Given the description of an element on the screen output the (x, y) to click on. 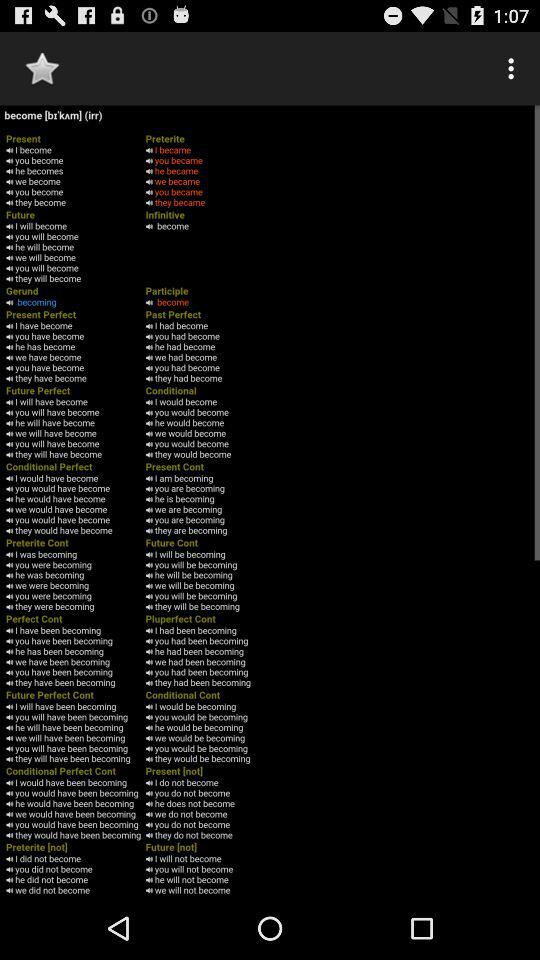
go to fevouride obstion (42, 68)
